Given the description of an element on the screen output the (x, y) to click on. 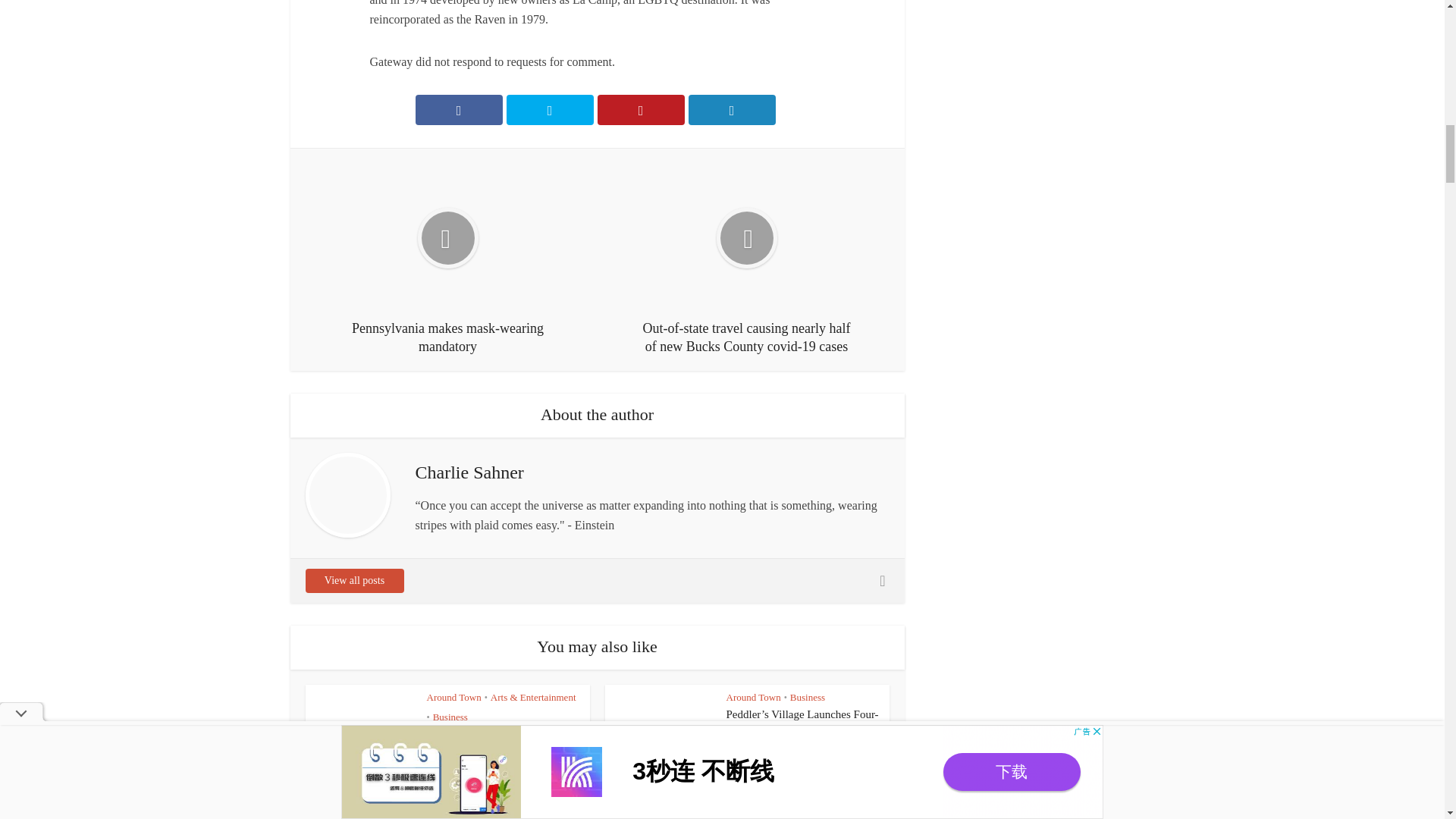
Pennsylvania makes mask-wearing mandatory (447, 259)
View all posts (353, 580)
Around Town (753, 696)
Block Party, Fireworks Return To New Hope Friday (502, 741)
Staff (506, 764)
Business (449, 716)
Business (807, 696)
Around Town (453, 696)
Block Party, Fireworks Return To New Hope Friday (502, 741)
